Given the description of an element on the screen output the (x, y) to click on. 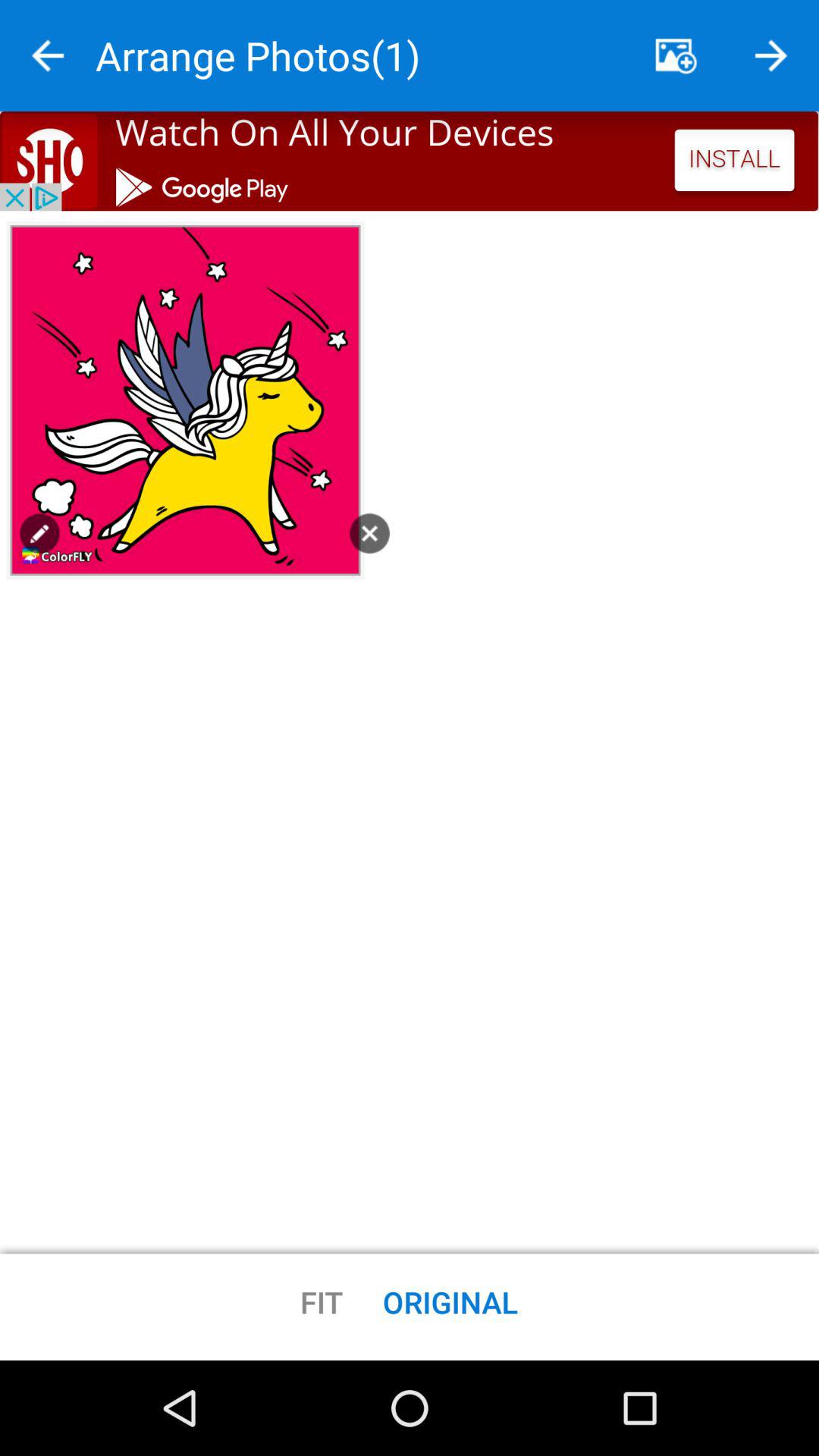
go forward button (771, 55)
